Given the description of an element on the screen output the (x, y) to click on. 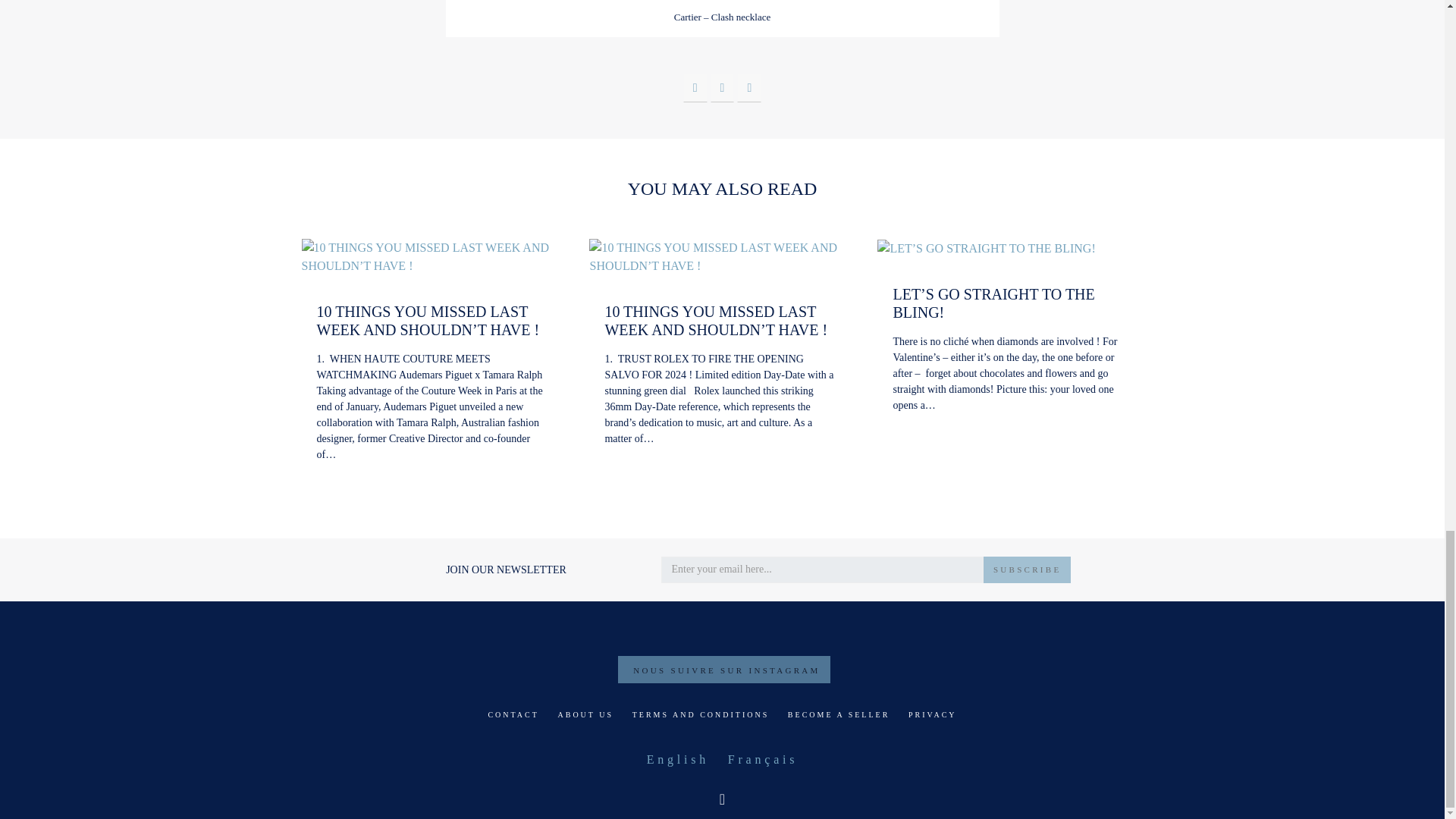
Bots only (727, 565)
